Given the description of an element on the screen output the (x, y) to click on. 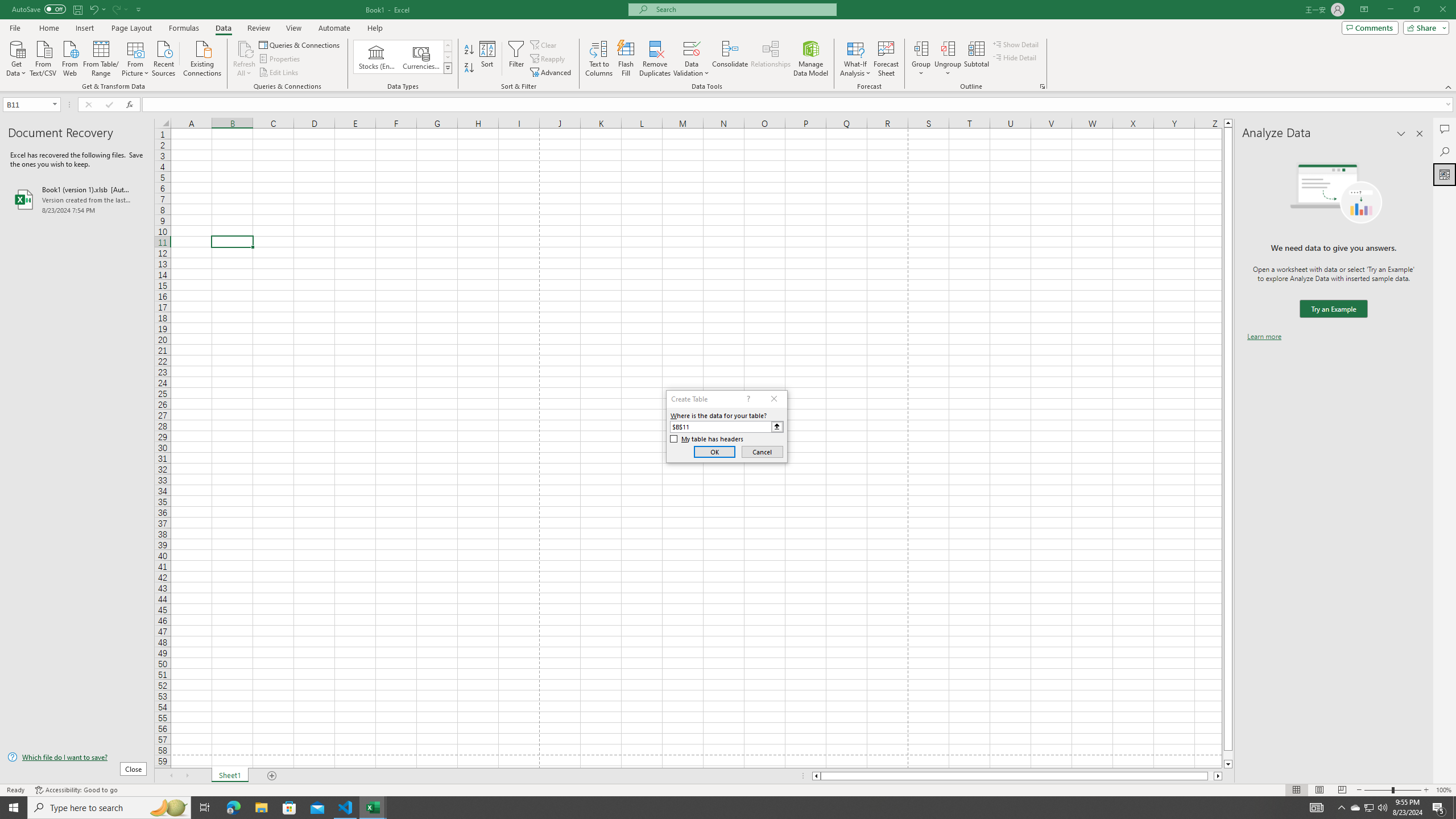
Group and Outline Settings (1042, 85)
What-If Analysis (855, 58)
Get Data (16, 57)
Sort A to Z (469, 49)
Flash Fill (625, 58)
Advanced... (551, 72)
Remove Duplicates (654, 58)
